Given the description of an element on the screen output the (x, y) to click on. 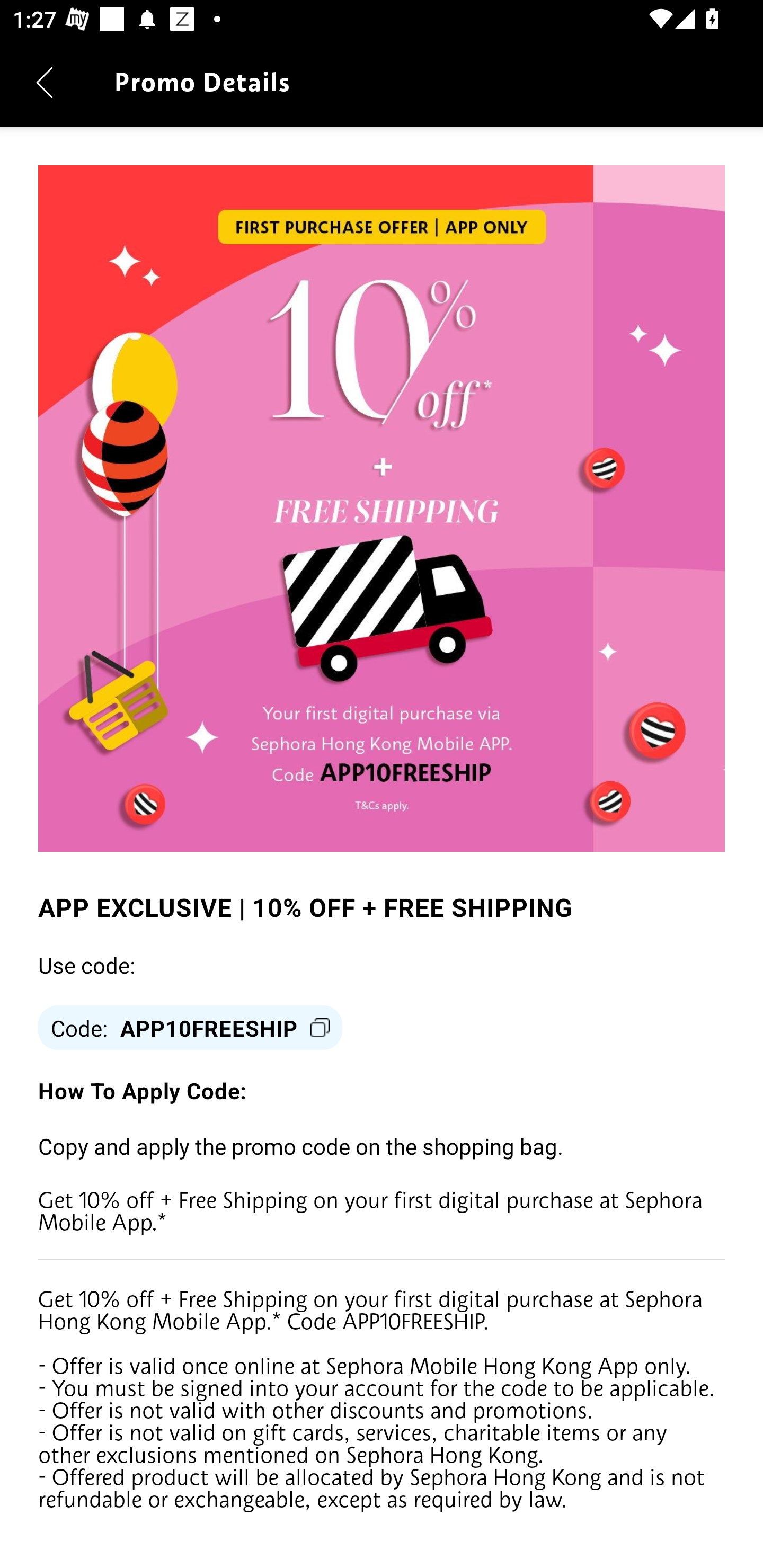
Navigate up (44, 82)
